Given the description of an element on the screen output the (x, y) to click on. 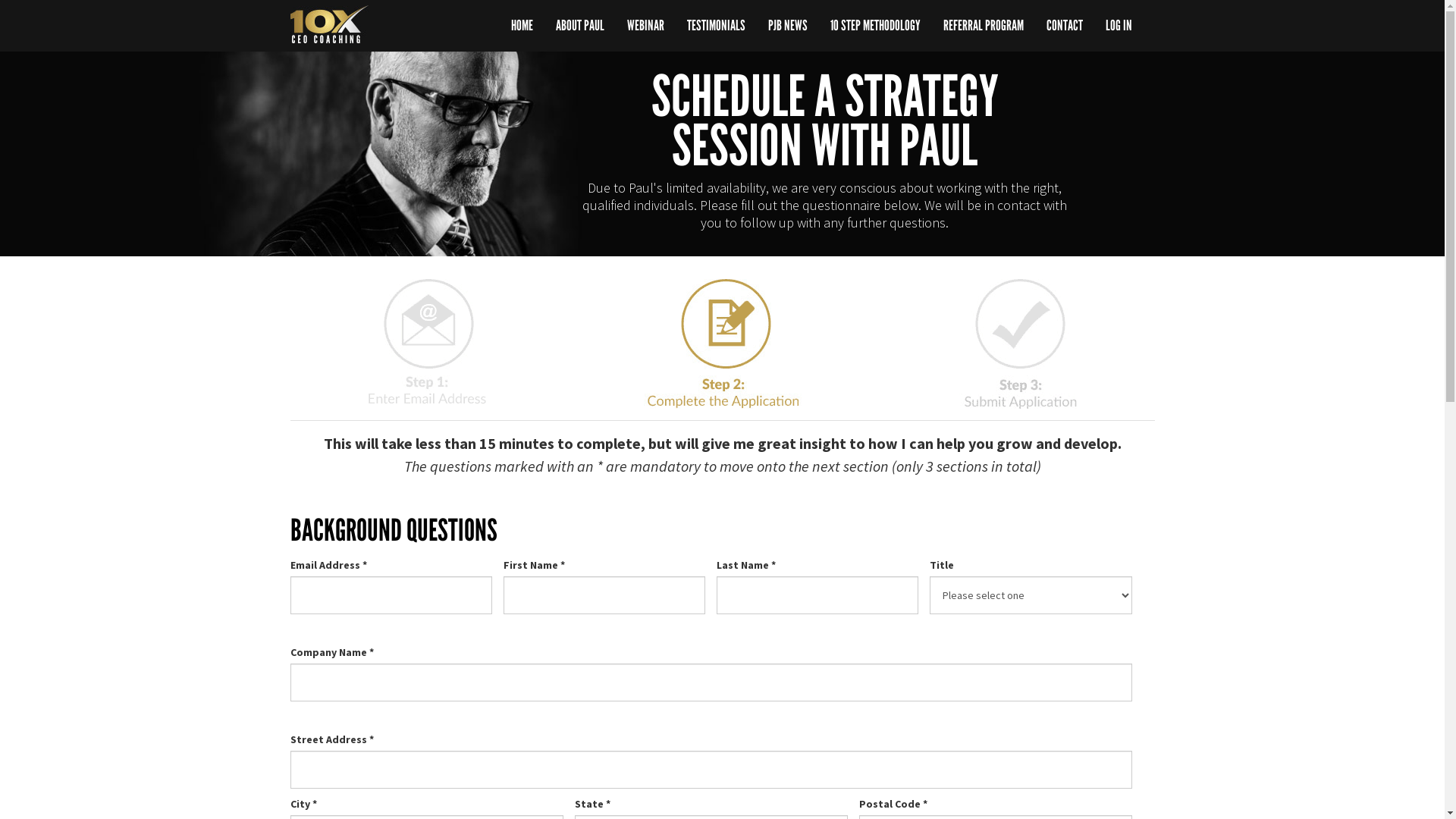
CONTACT Element type: text (1063, 25)
LOG IN Element type: text (1117, 25)
HOME Element type: text (520, 25)
10 STEP METHODOLOGY Element type: text (875, 25)
REFERRAL PROGRAM Element type: text (982, 25)
PJB NEWS Element type: text (787, 25)
TESTIMONIALS Element type: text (715, 25)
WEBINAR Element type: text (645, 25)
ABOUT PAUL Element type: text (579, 25)
